Given the description of an element on the screen output the (x, y) to click on. 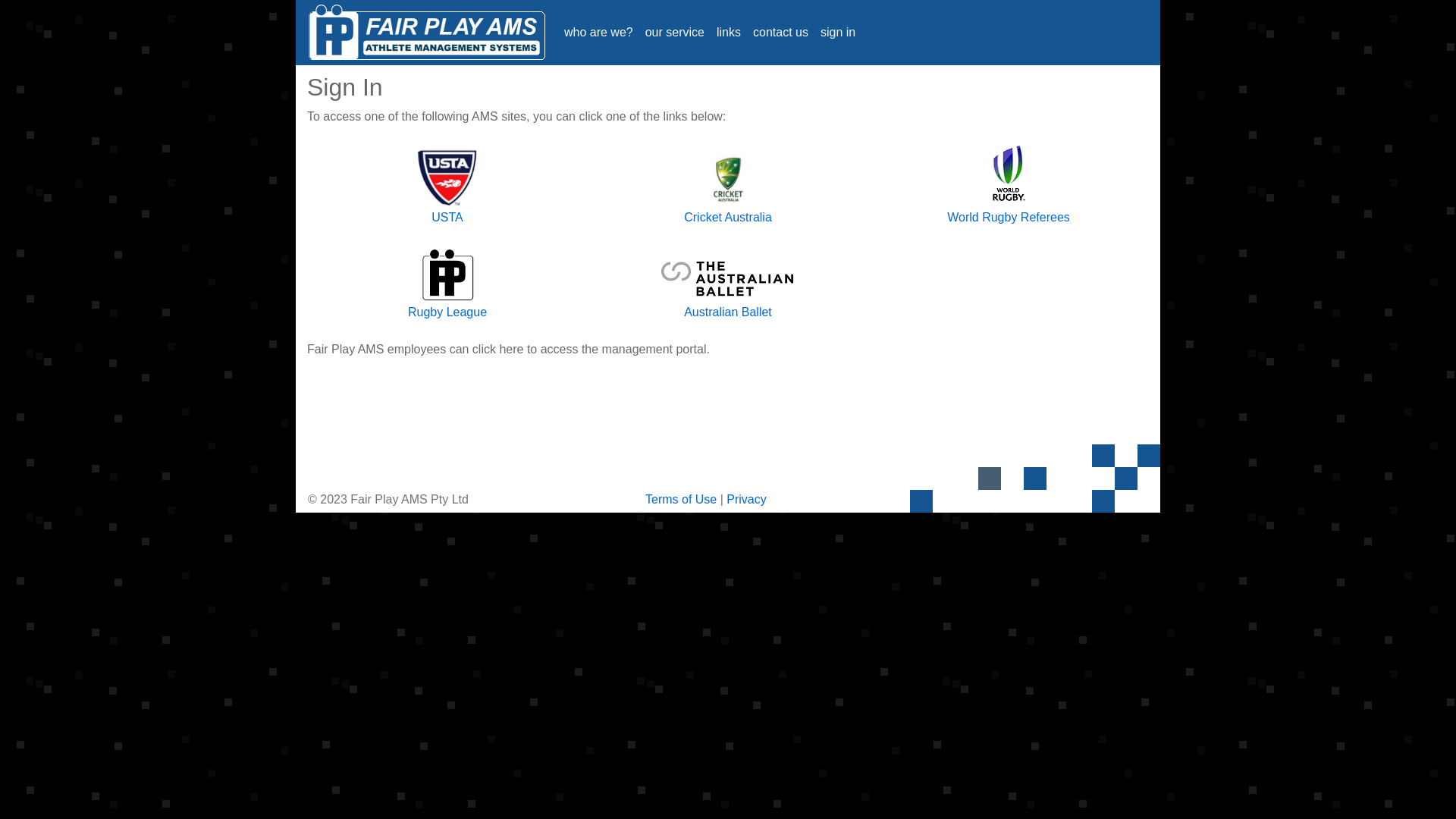
who are we? Element type: text (598, 32)
Privacy Element type: text (745, 498)
World Rugby Referees Element type: text (1008, 216)
Rugby League Element type: text (446, 311)
our service Element type: text (674, 32)
contact us Element type: text (780, 32)
USTA Element type: text (446, 216)
Australian Ballet Element type: text (727, 311)
sign in Element type: text (837, 32)
Cricket Australia Element type: text (727, 216)
Terms of Use Element type: text (680, 498)
links Element type: text (728, 32)
